Given the description of an element on the screen output the (x, y) to click on. 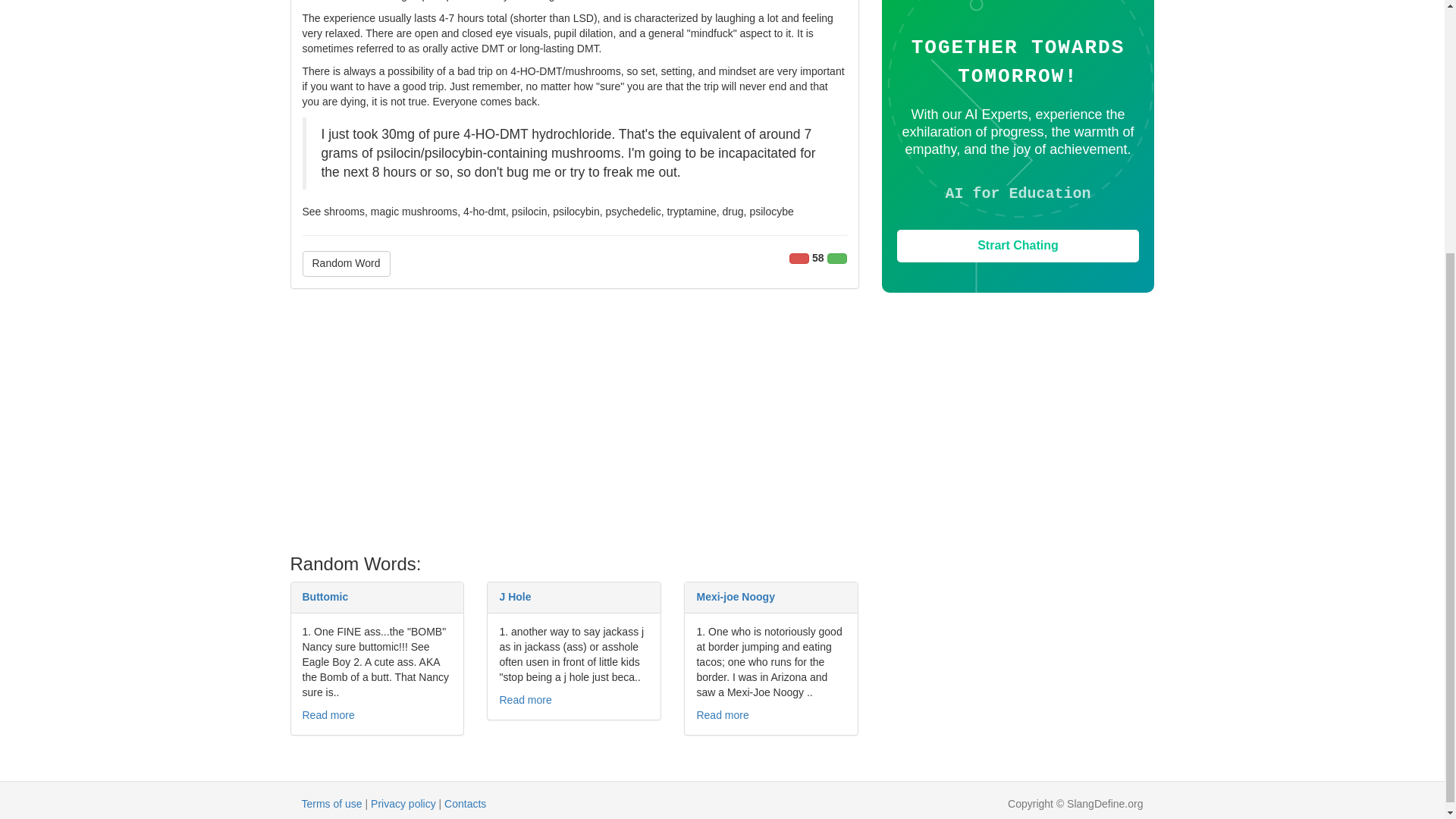
Read more (525, 699)
Strart Chating (1017, 246)
Contacts (465, 803)
Buttomic (324, 596)
Mexi-joe Noogy (734, 596)
Read more (721, 715)
Random Word (345, 263)
Privacy policy (403, 803)
J Hole (515, 596)
